Given the description of an element on the screen output the (x, y) to click on. 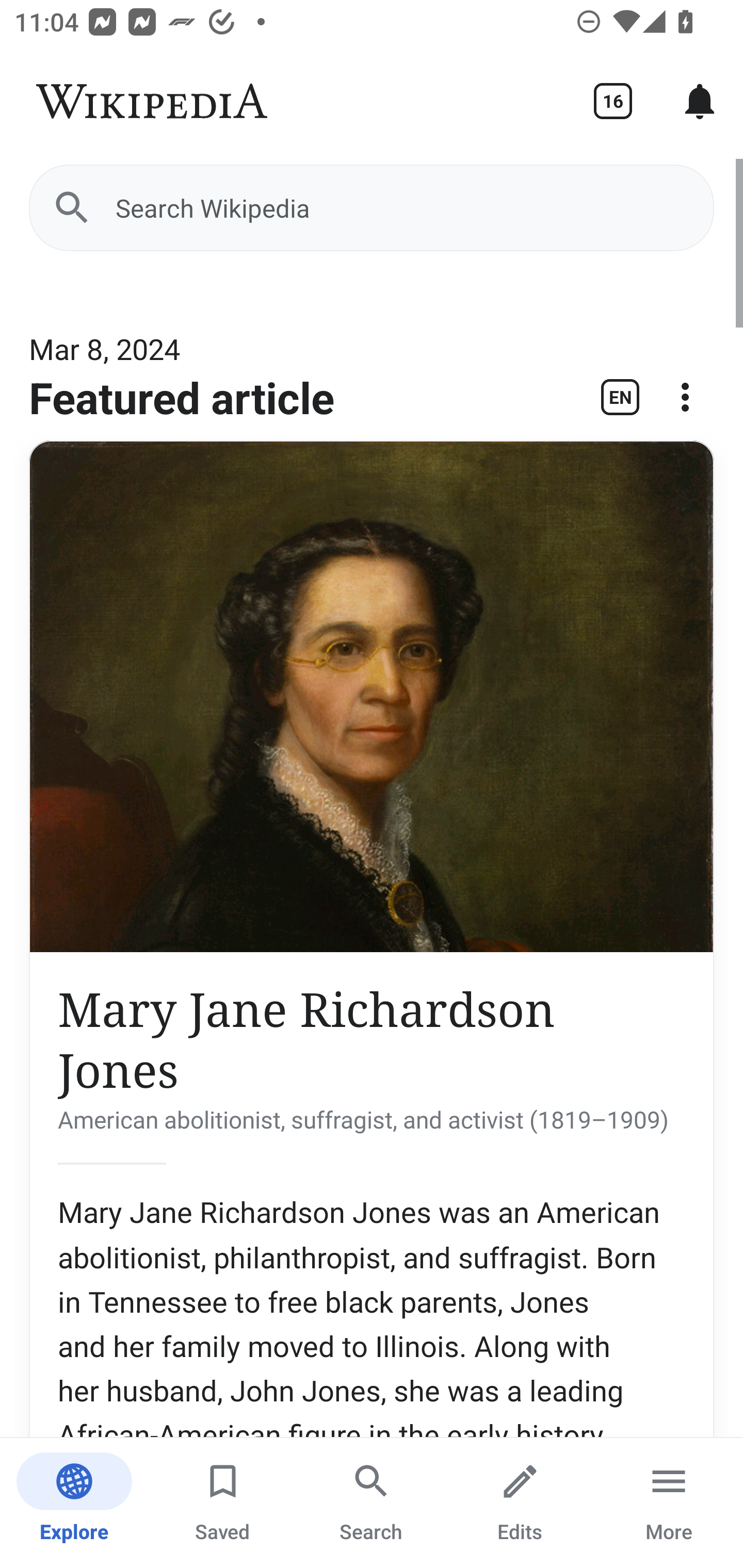
Show tabs 16 (612, 101)
Notifications (699, 101)
Search Wikipedia (371, 207)
More options (684, 404)
Saved (222, 1502)
Search (371, 1502)
Edits (519, 1502)
More (668, 1502)
